Given the description of an element on the screen output the (x, y) to click on. 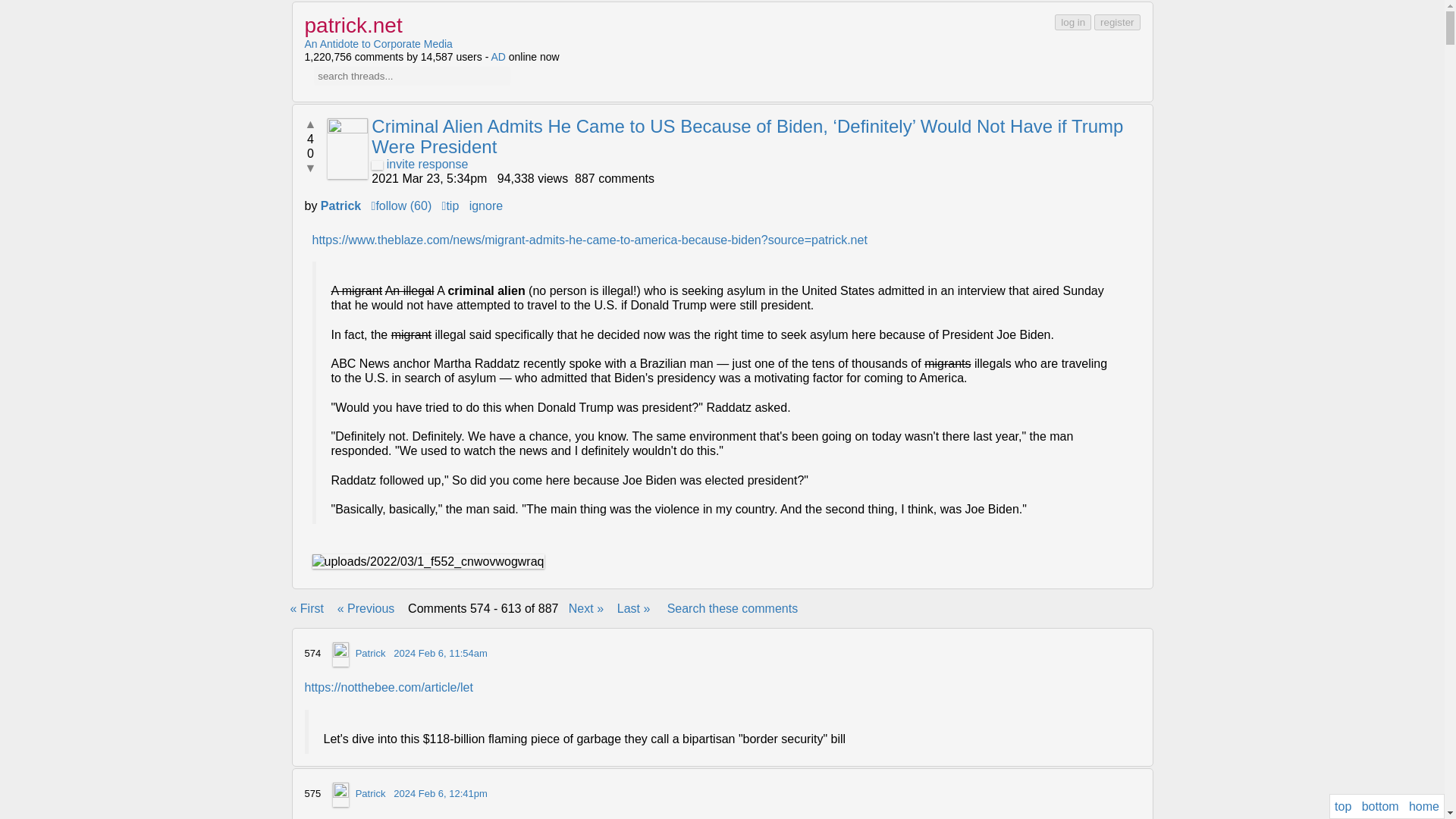
 invite response (419, 164)
control-s will jump to this search box (412, 75)
Patrick (340, 205)
back to home page (353, 24)
register (1117, 22)
search comments in this thread (731, 608)
2024 Feb 6, 12:41pm (440, 793)
Patrick (370, 654)
invite a response to this post (419, 164)
Patrick (370, 793)
send a tip and private message to Patrick (451, 205)
Search these comments (731, 608)
permalink to this comment (440, 654)
permalink to this comment (440, 793)
AD (497, 56)
